Given the description of an element on the screen output the (x, y) to click on. 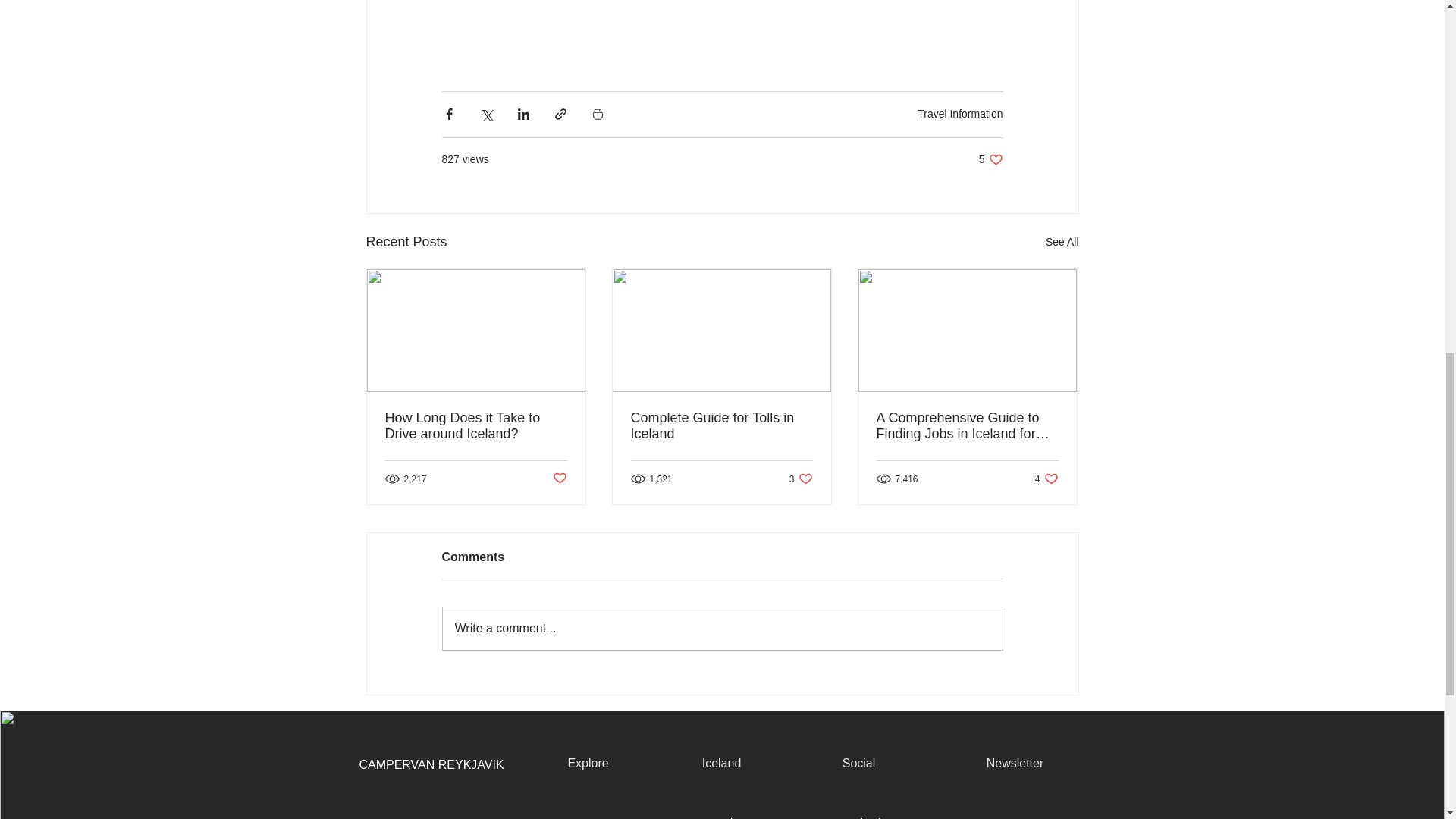
Travel Information (990, 159)
See All (960, 113)
How Long Does it Take to Drive around Iceland? (1061, 241)
